Given the description of an element on the screen output the (x, y) to click on. 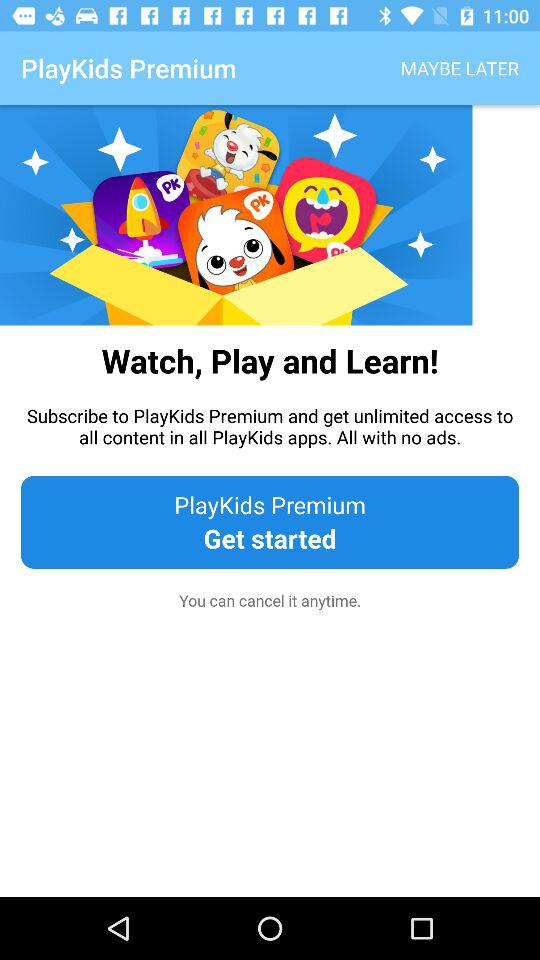
press icon at the top right corner (459, 67)
